Given the description of an element on the screen output the (x, y) to click on. 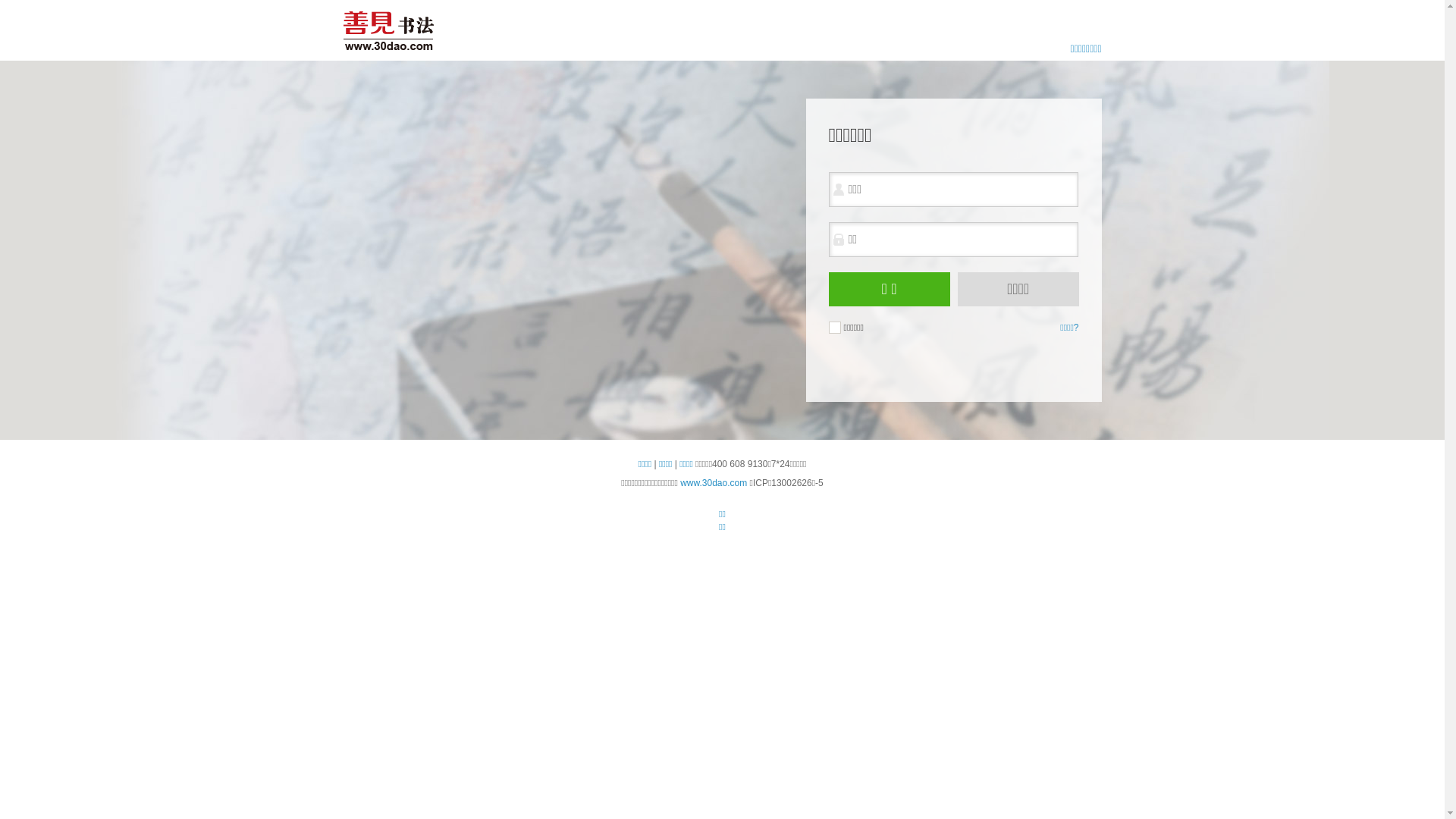
www.30dao.com Element type: text (713, 482)
